Given the description of an element on the screen output the (x, y) to click on. 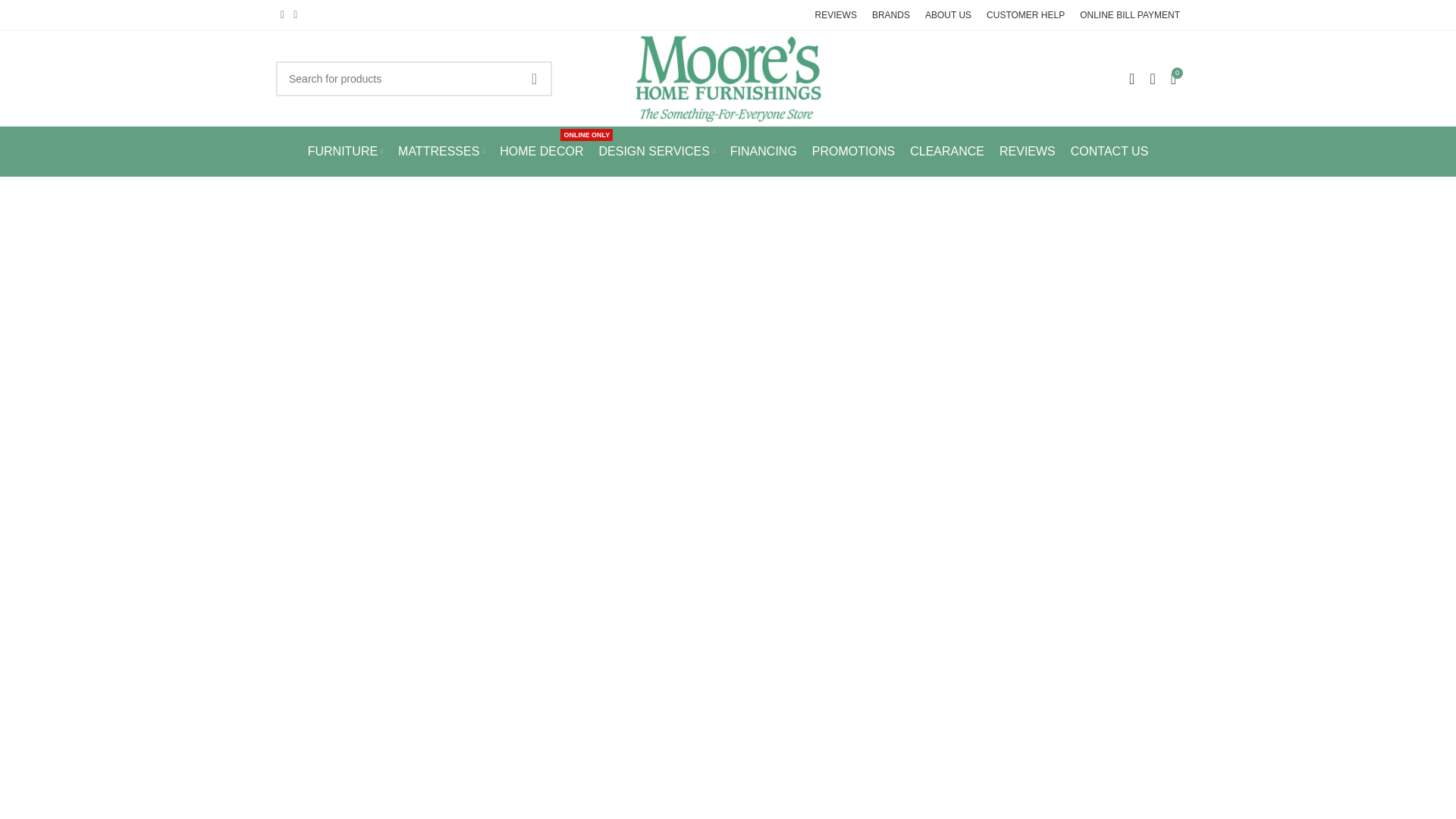
FURNITURE (344, 151)
ABOUT US (947, 15)
CUSTOMER HELP (1025, 15)
ONLINE BILL PAYMENT (1129, 15)
SEARCH (533, 77)
Dirkton Table Lamp Lighting Ashley Furniture 5 (727, 78)
REVIEWS (836, 15)
BRANDS (891, 15)
Search for products (413, 77)
